Given the description of an element on the screen output the (x, y) to click on. 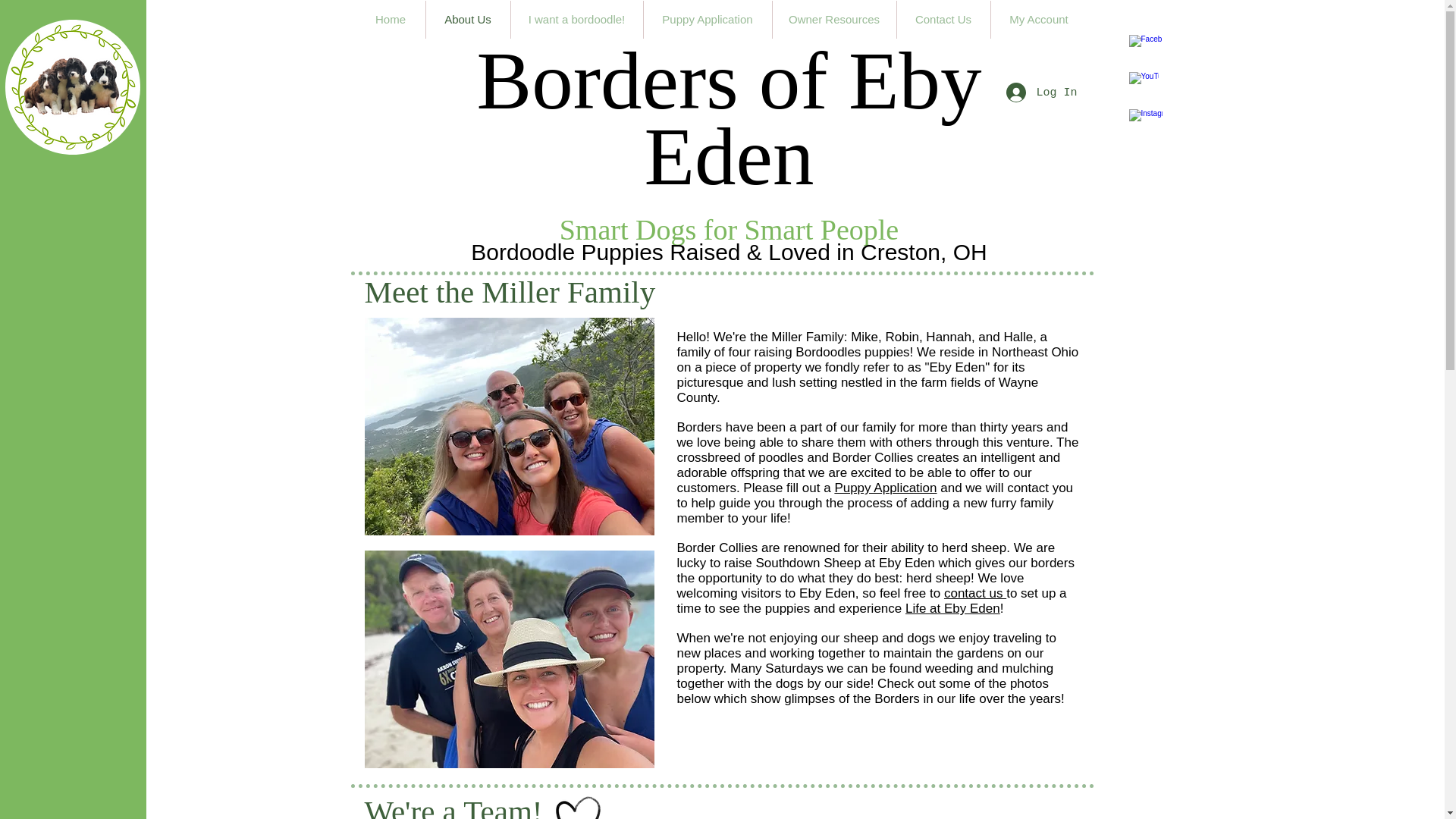
My Account (1038, 19)
About Us (468, 19)
I want a bordoodle! (577, 19)
Puppy Application (885, 487)
Puppy Application (707, 19)
Owner Resources (833, 19)
contact us  (974, 593)
Home (390, 19)
Contact Us (943, 19)
Life at Eby Eden (952, 608)
Log In (1040, 92)
